Given the description of an element on the screen output the (x, y) to click on. 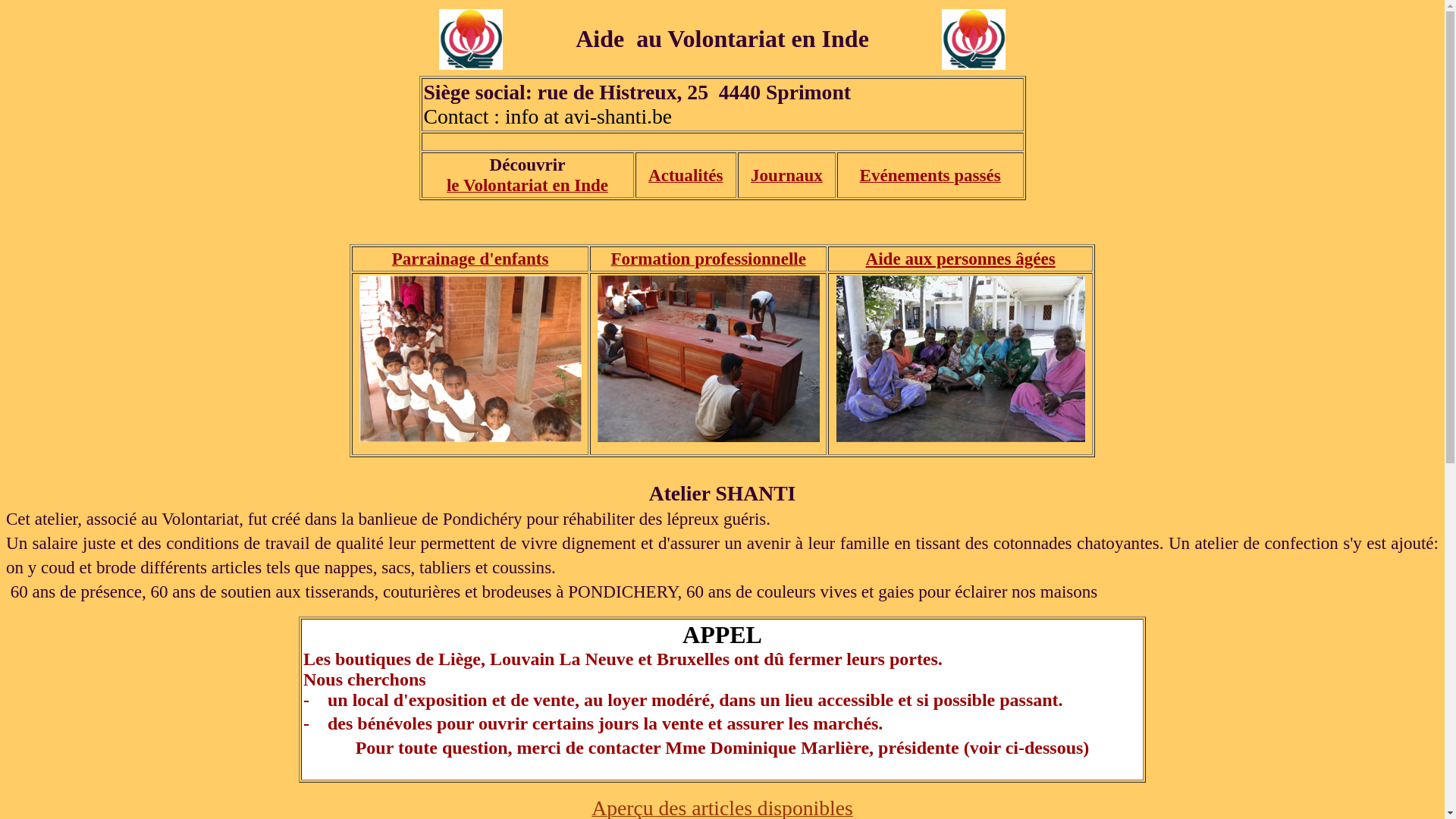
Journaux Element type: text (786, 175)
le Volontariat en Inde Element type: text (527, 186)
Parrainage d'enfants Element type: text (470, 260)
Formation professionnelle Element type: text (708, 260)
